Given the description of an element on the screen output the (x, y) to click on. 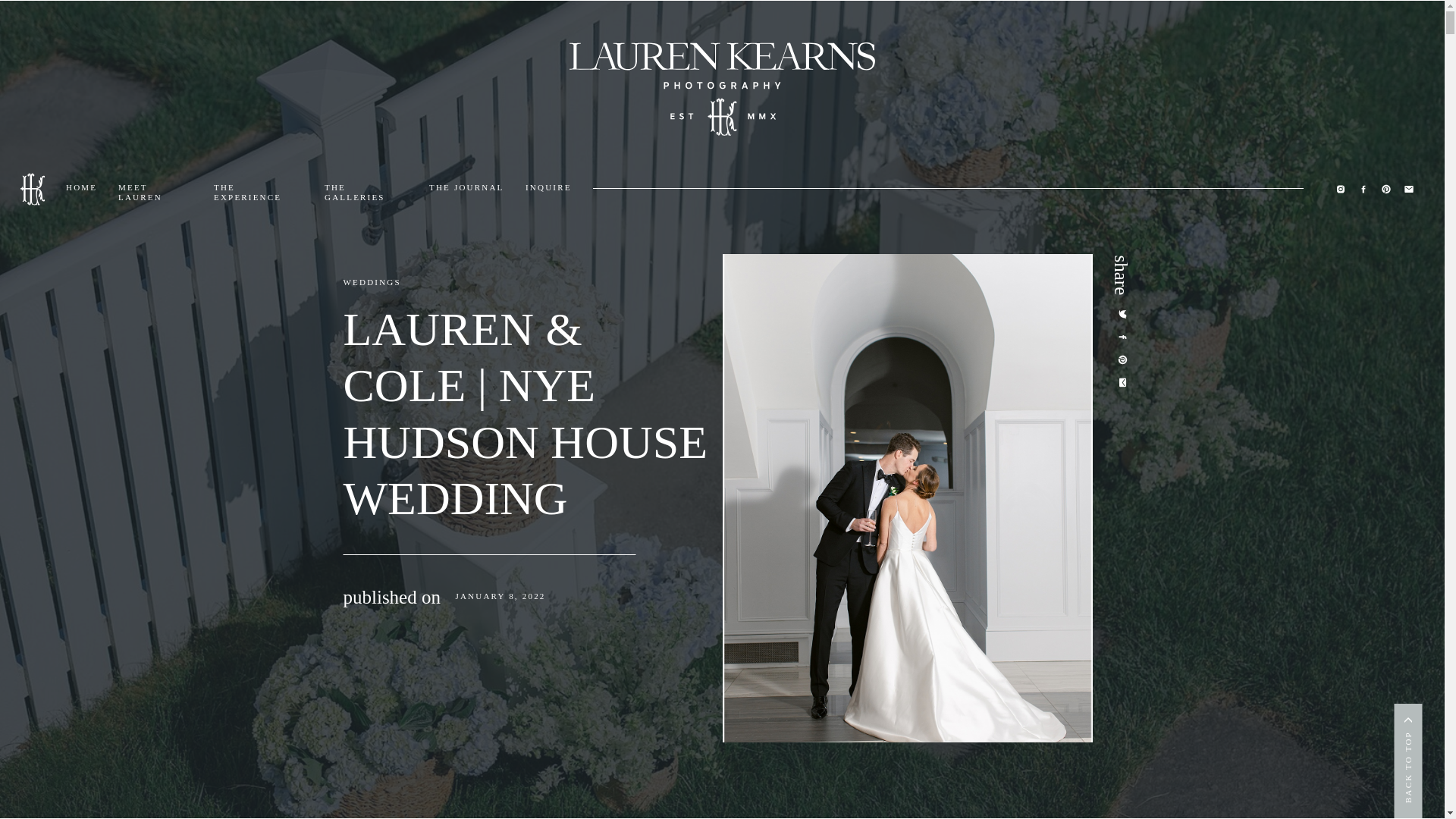
MEET LAUREN (155, 188)
THE EXPERIENCE (258, 188)
WEDDINGS (371, 281)
INQUIRE (547, 188)
HOME (81, 188)
THE GALLERIES (366, 188)
THE JOURNAL (466, 188)
